Given the description of an element on the screen output the (x, y) to click on. 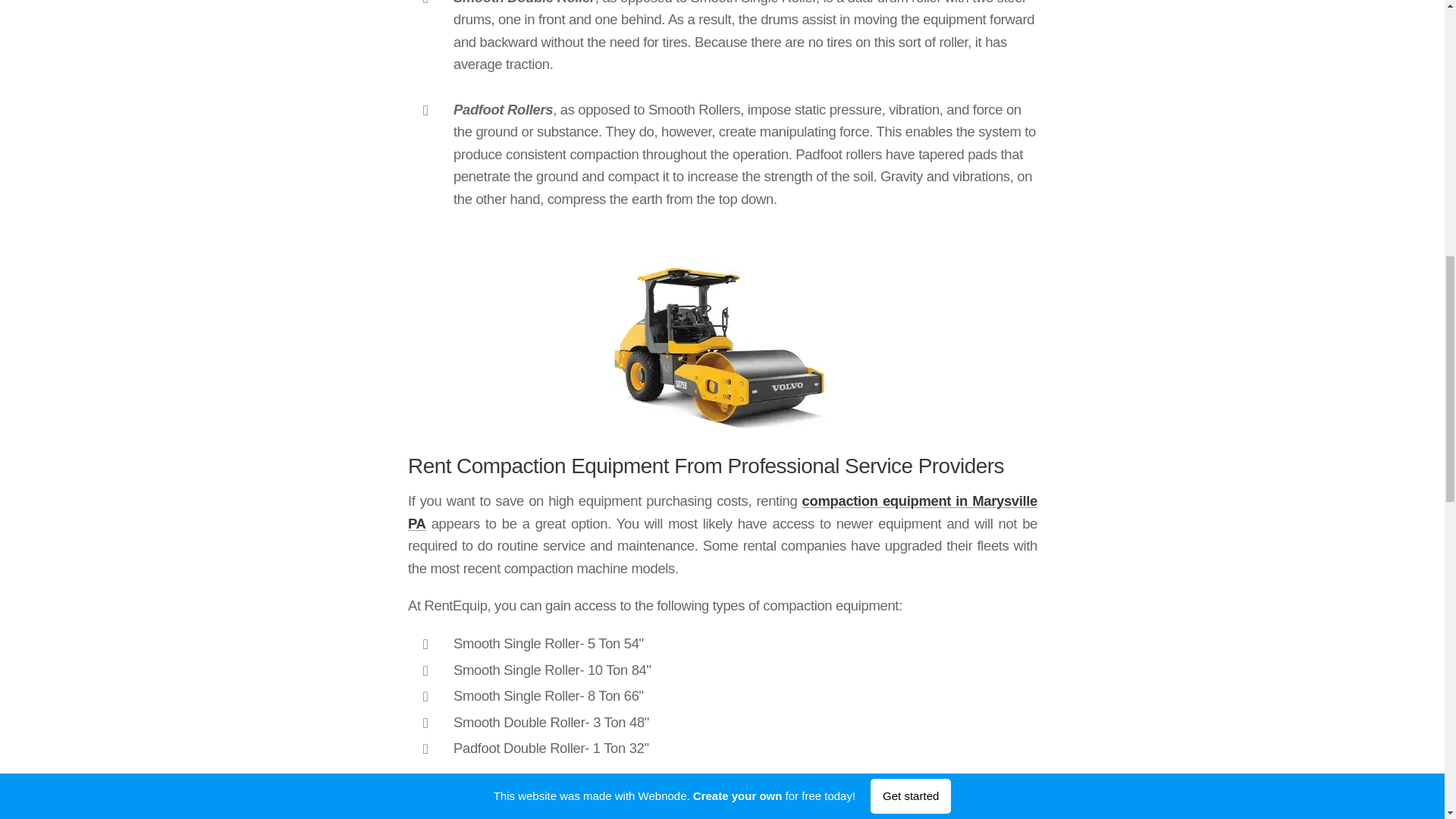
compaction equipment in Marysville PA (721, 512)
